Given the description of an element on the screen output the (x, y) to click on. 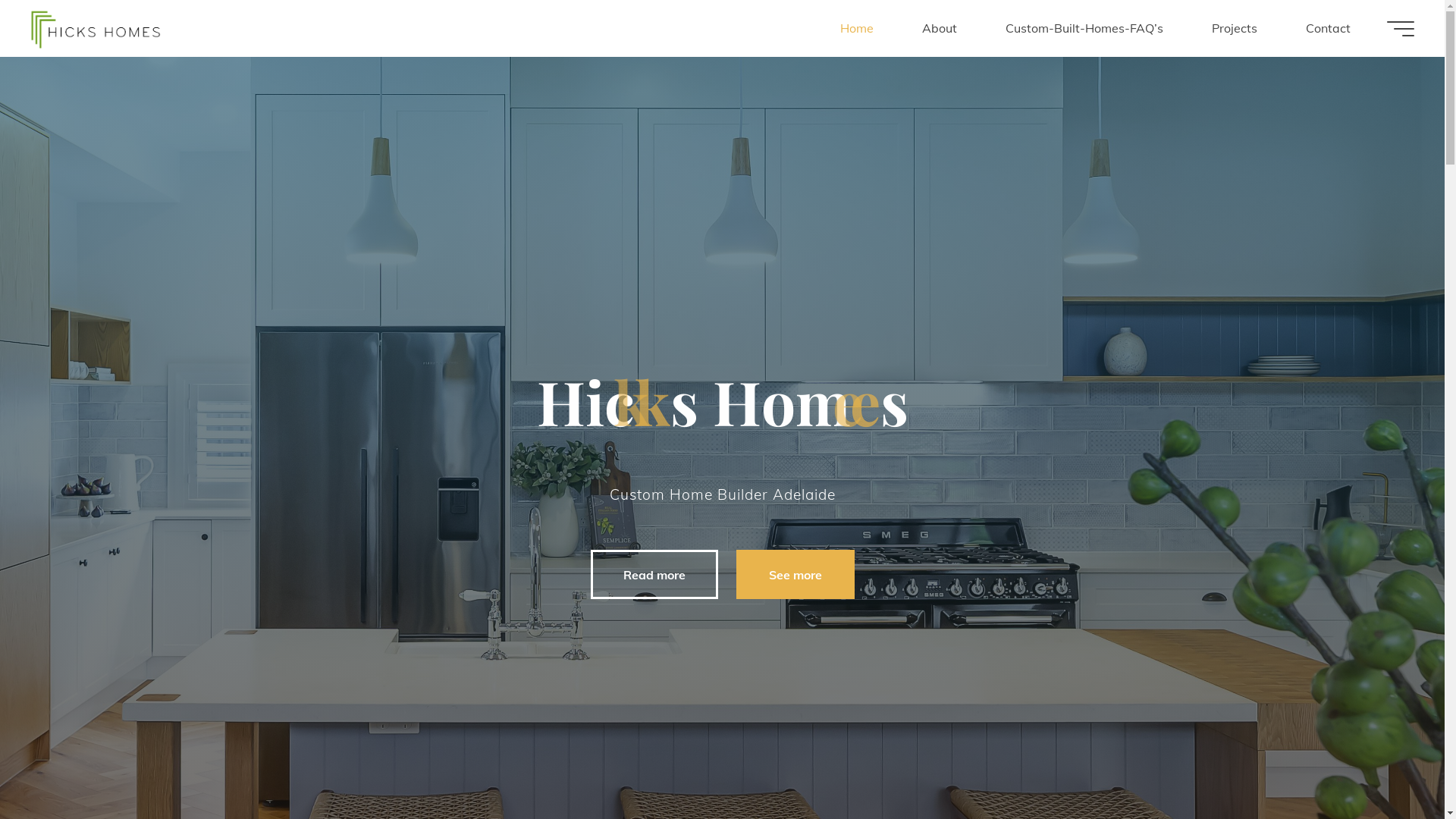
Projects Element type: text (1234, 28)
Hicks Homes Element type: hover (95, 27)
Read more Element type: text (653, 574)
About Element type: text (939, 28)
See more Element type: text (794, 574)
Contact Element type: text (1327, 28)
Read more Element type: hover (721, 782)
Home Element type: text (856, 28)
